Given the description of an element on the screen output the (x, y) to click on. 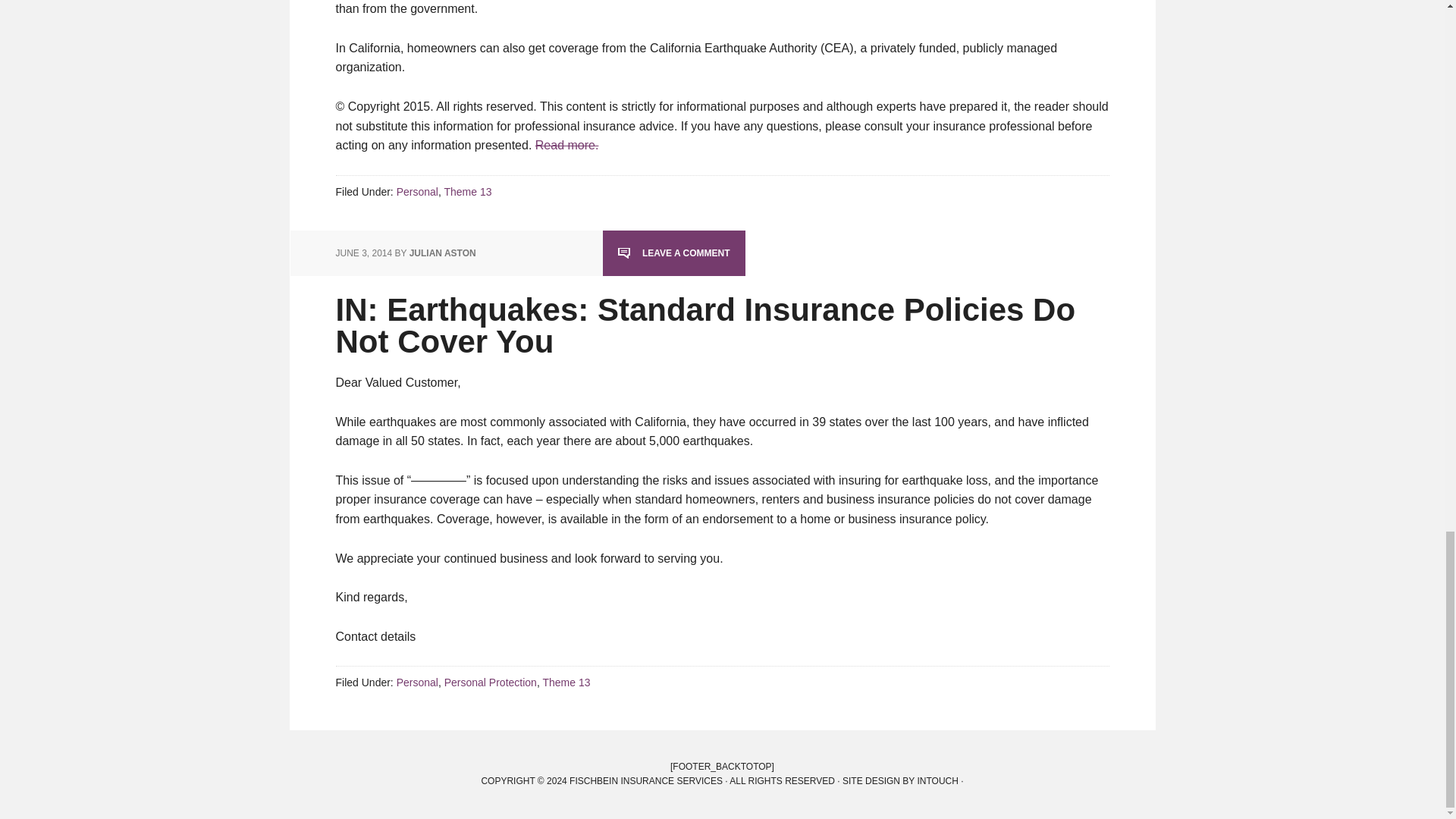
FISCHBEIN (645, 780)
Theme 13 (468, 191)
Contact Us (781, 780)
Personal Protection (490, 682)
LEAVE A COMMENT (673, 253)
Read more. (566, 144)
Theme 13 (565, 682)
Personal (417, 682)
Personal (417, 191)
JULIAN ASTON (442, 253)
FISCHBEIN INSURANCE SERVICES (645, 780)
INTOUCH (901, 780)
